Given the description of an element on the screen output the (x, y) to click on. 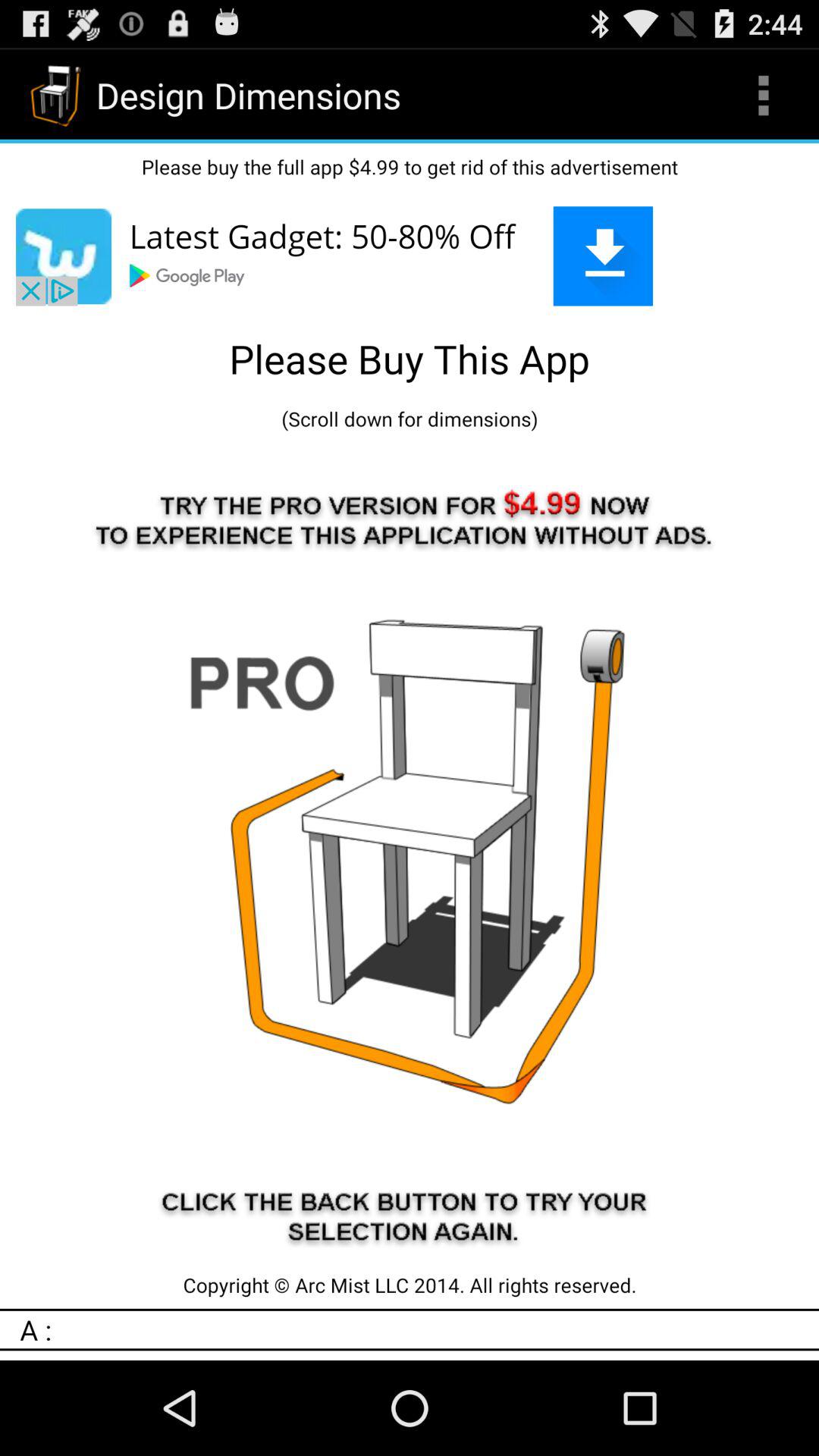
scroll to the copyright arc mist item (409, 1284)
